Given the description of an element on the screen output the (x, y) to click on. 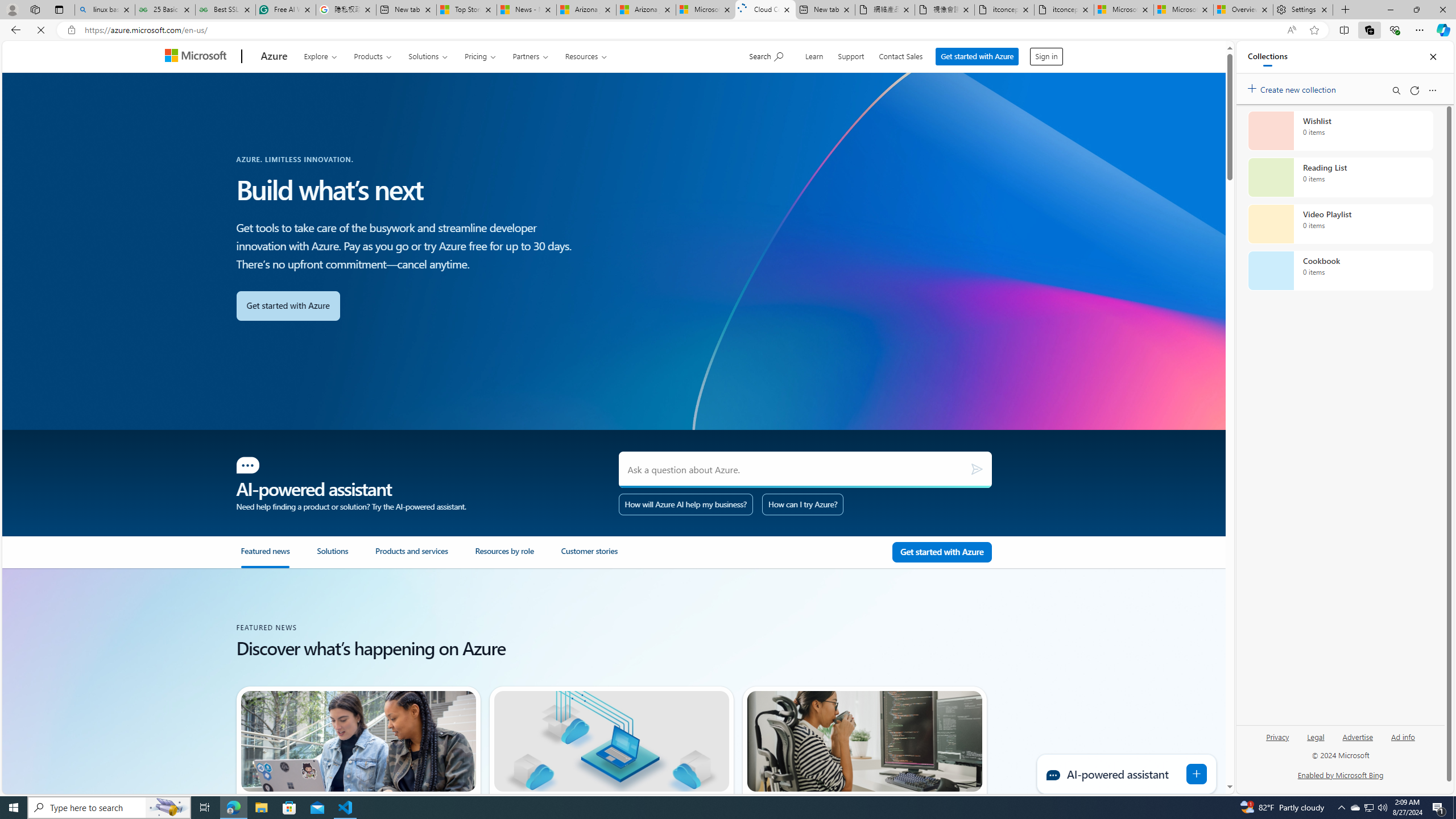
Featured news (277, 556)
Support (852, 54)
Customer stories (603, 556)
Products and services (411, 555)
